Given the description of an element on the screen output the (x, y) to click on. 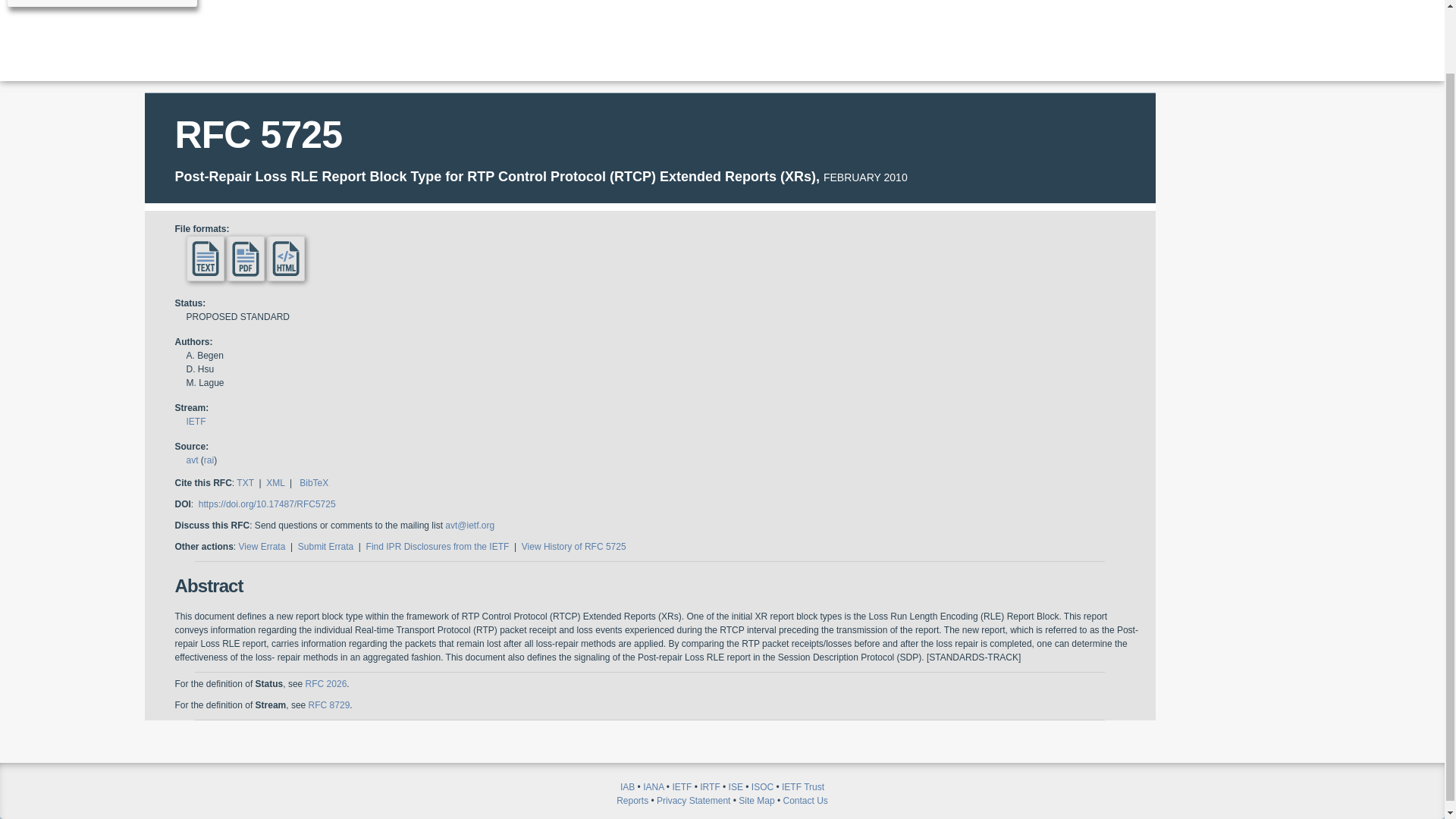
Privacy Statement (693, 800)
RFC 5725 (258, 134)
View History of RFC 5725 (573, 546)
IETF (681, 787)
ISOC (762, 787)
ISE (735, 787)
IETF (196, 421)
RFC 2026 (326, 683)
RFC 8729 (329, 705)
Find IPR Disclosures from the IETF (437, 546)
avt (192, 460)
BibTeX (314, 482)
IRTF (709, 787)
View Errata (261, 546)
RFC Editor (101, 3)
